Given the description of an element on the screen output the (x, y) to click on. 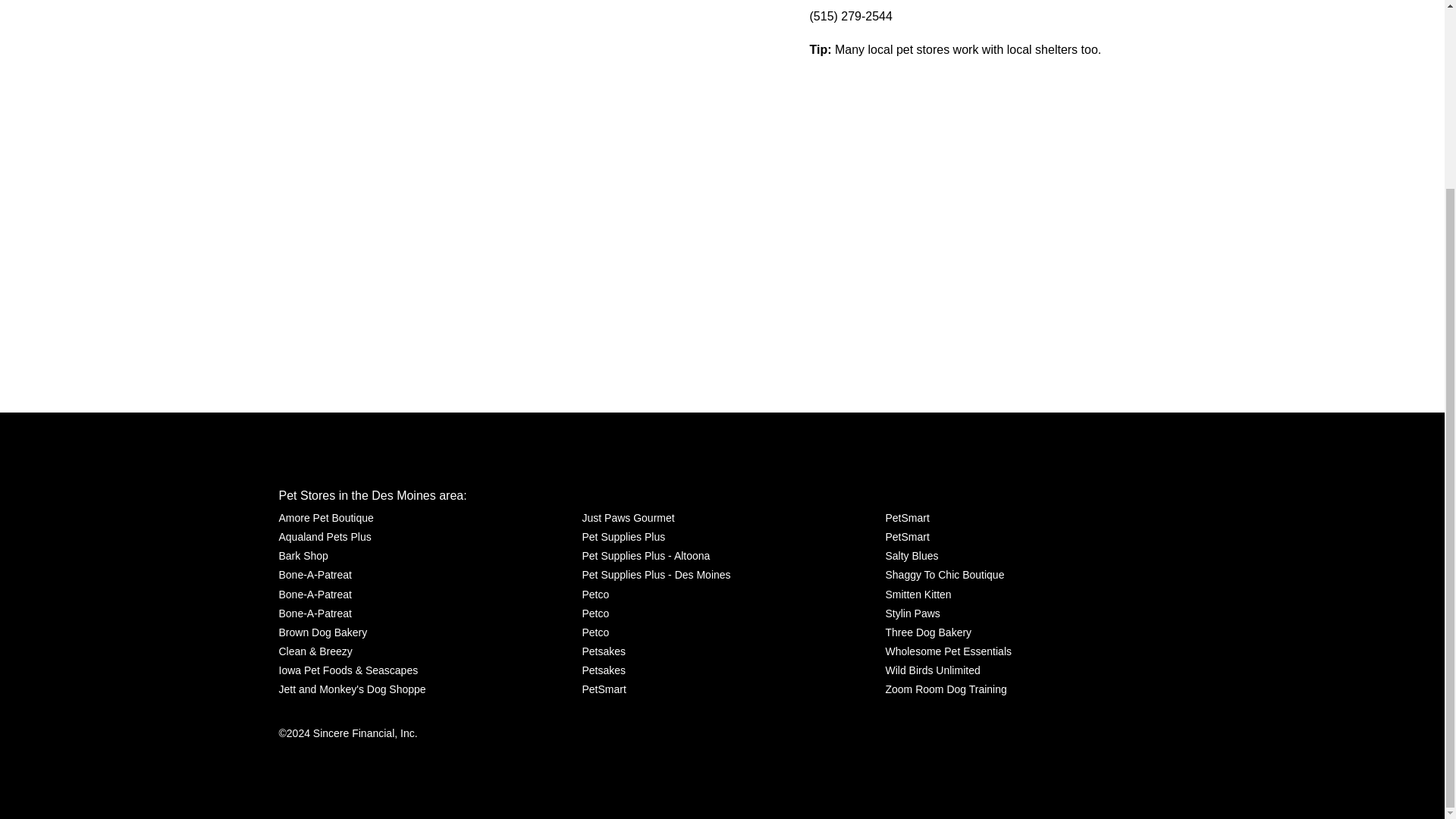
Petco (594, 613)
PetSmart (906, 517)
Wholesome Pet Essentials (948, 651)
Shaggy To Chic Boutique (944, 574)
Petsakes (603, 651)
Smitten Kitten (917, 594)
Wild Birds Unlimited (932, 670)
PetSmart (906, 537)
Amore Pet Boutique (326, 517)
Petsakes (603, 670)
